Given the description of an element on the screen output the (x, y) to click on. 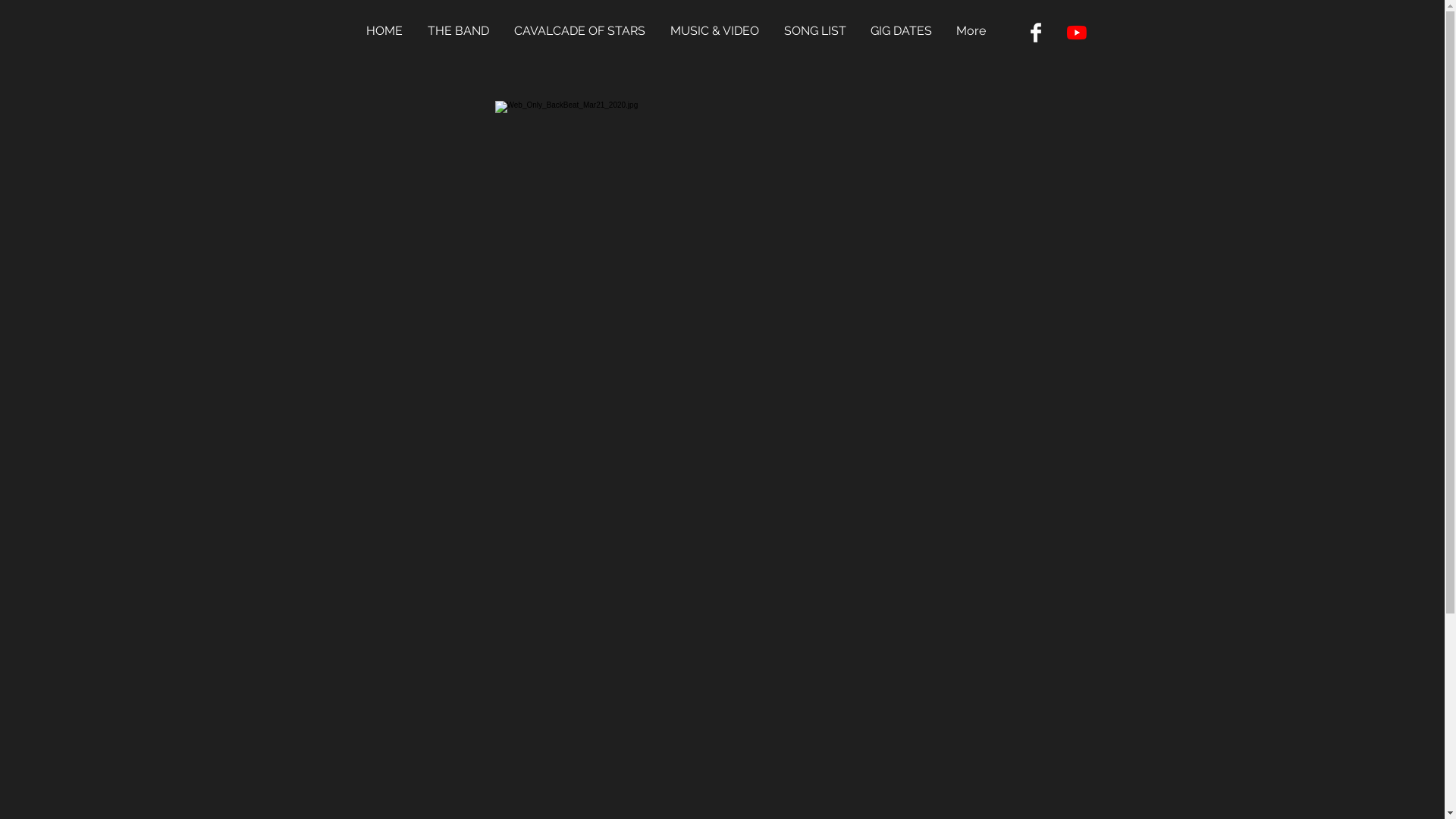
CAVALCADE OF STARS Element type: text (584, 29)
SONG LIST Element type: text (819, 29)
THE BAND Element type: text (463, 29)
GIG DATES Element type: text (905, 29)
HOME Element type: text (388, 29)
MUSIC & VIDEO Element type: text (719, 29)
